Given the description of an element on the screen output the (x, y) to click on. 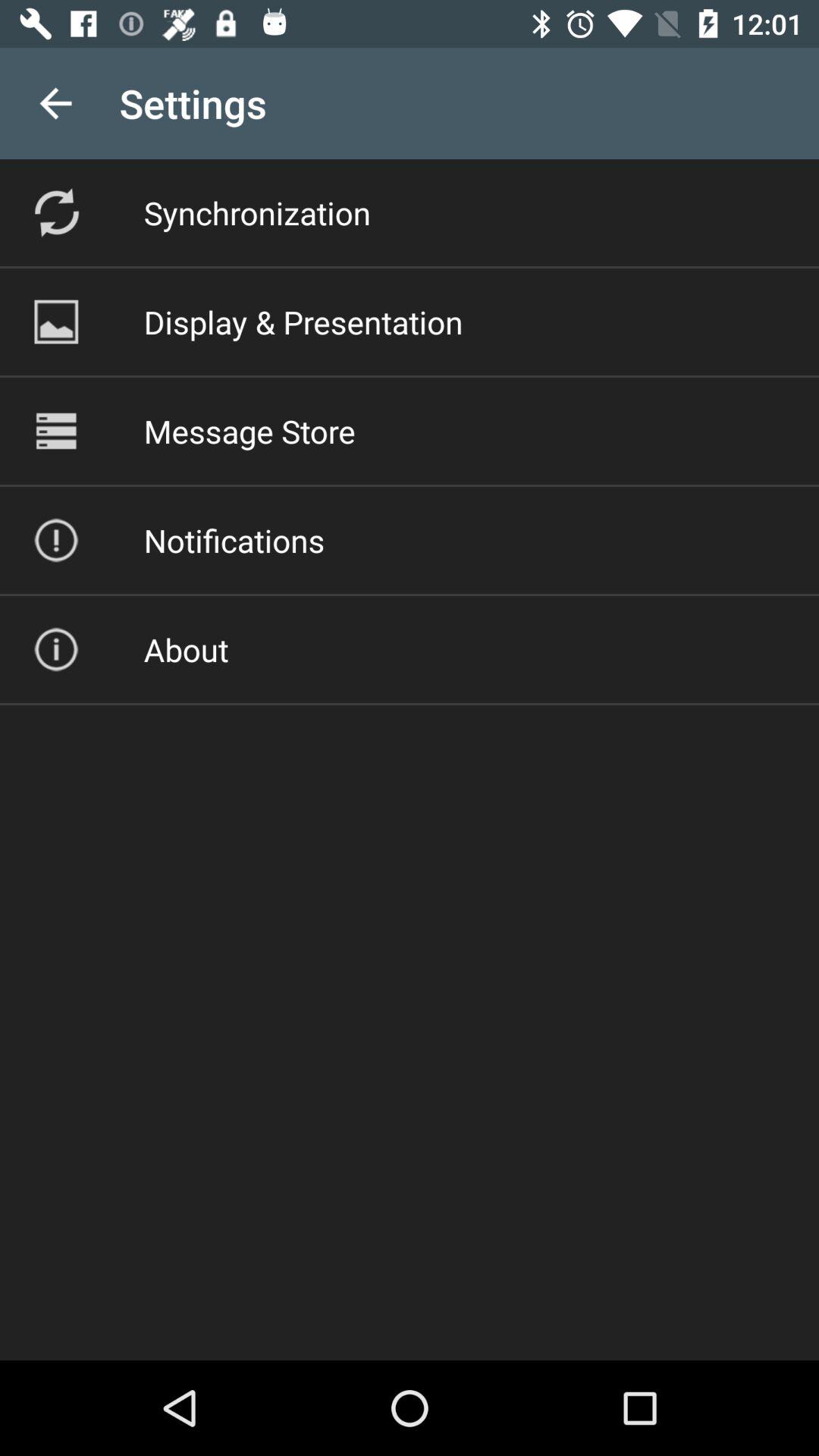
choose icon above the about (233, 539)
